Given the description of an element on the screen output the (x, y) to click on. 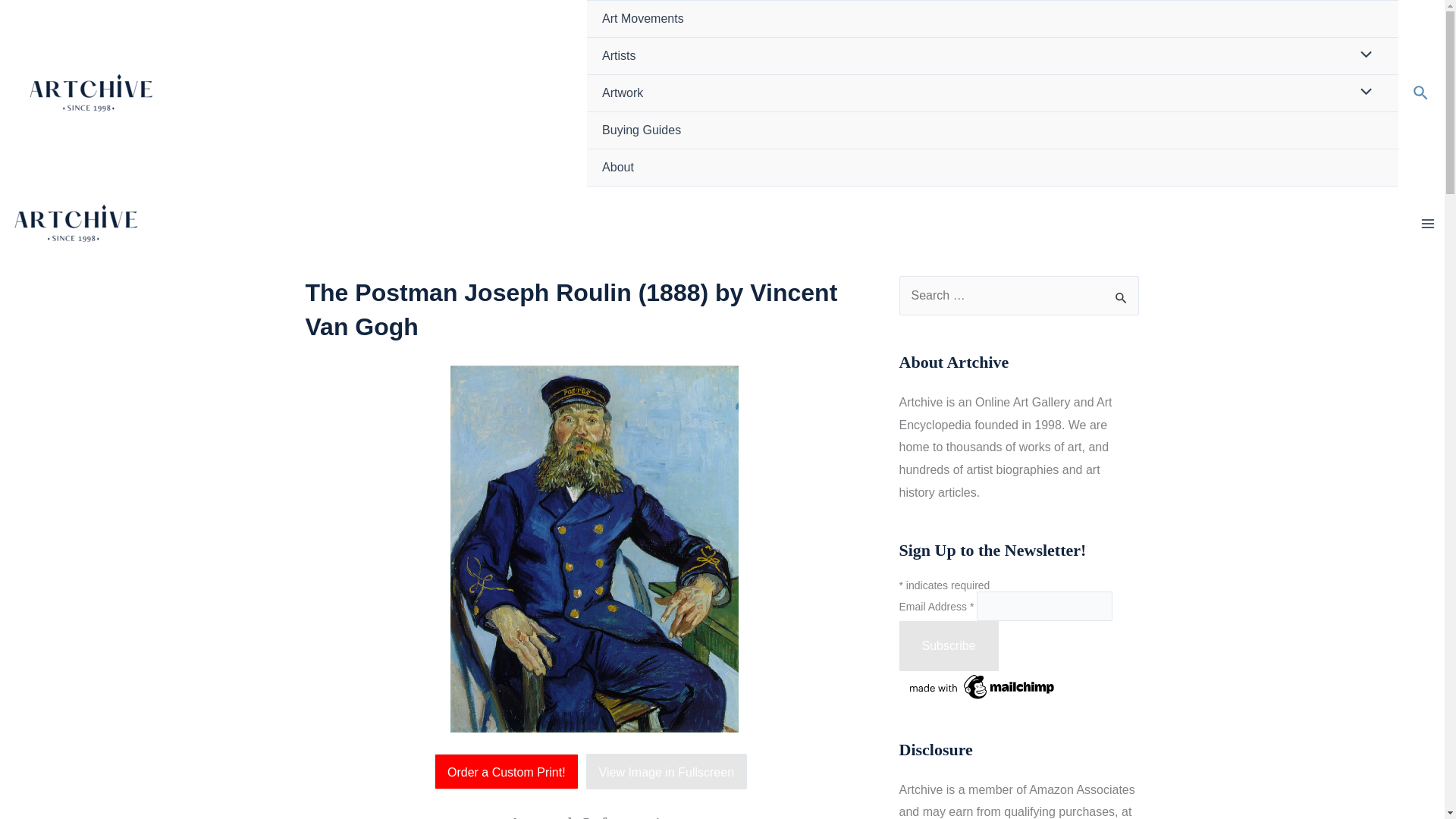
Mailchimp - email marketing made easy and fun (982, 686)
Artists (991, 56)
Art Movements (991, 18)
About (991, 167)
Subscribe (948, 645)
Buying Guides (991, 130)
Order a Custom Print! (509, 771)
Artwork (991, 93)
